Given the description of an element on the screen output the (x, y) to click on. 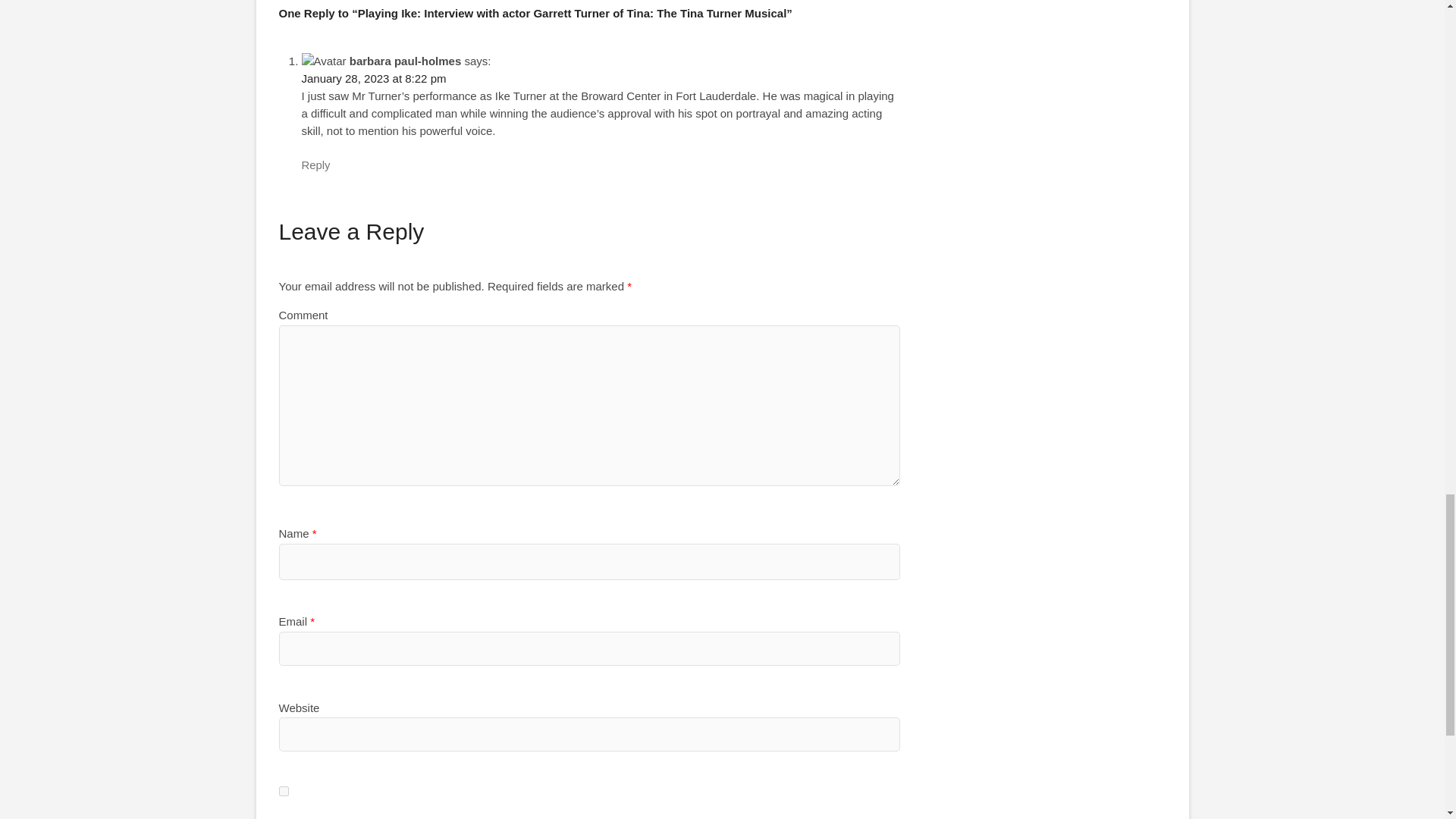
yes (283, 791)
January 28, 2023 at 8:22 pm (373, 78)
Reply (315, 164)
